Given the description of an element on the screen output the (x, y) to click on. 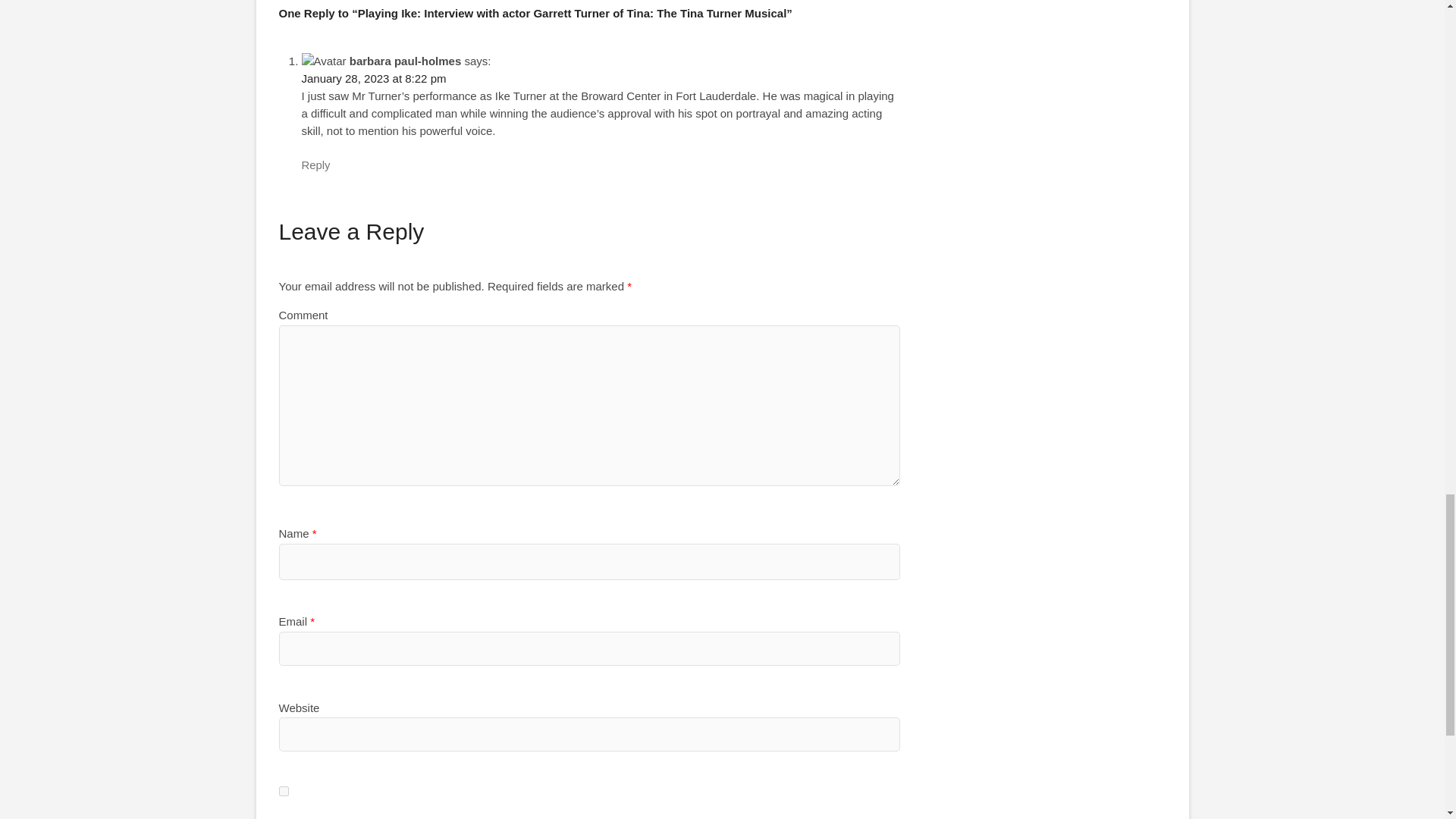
yes (283, 791)
January 28, 2023 at 8:22 pm (373, 78)
Reply (315, 164)
